Given the description of an element on the screen output the (x, y) to click on. 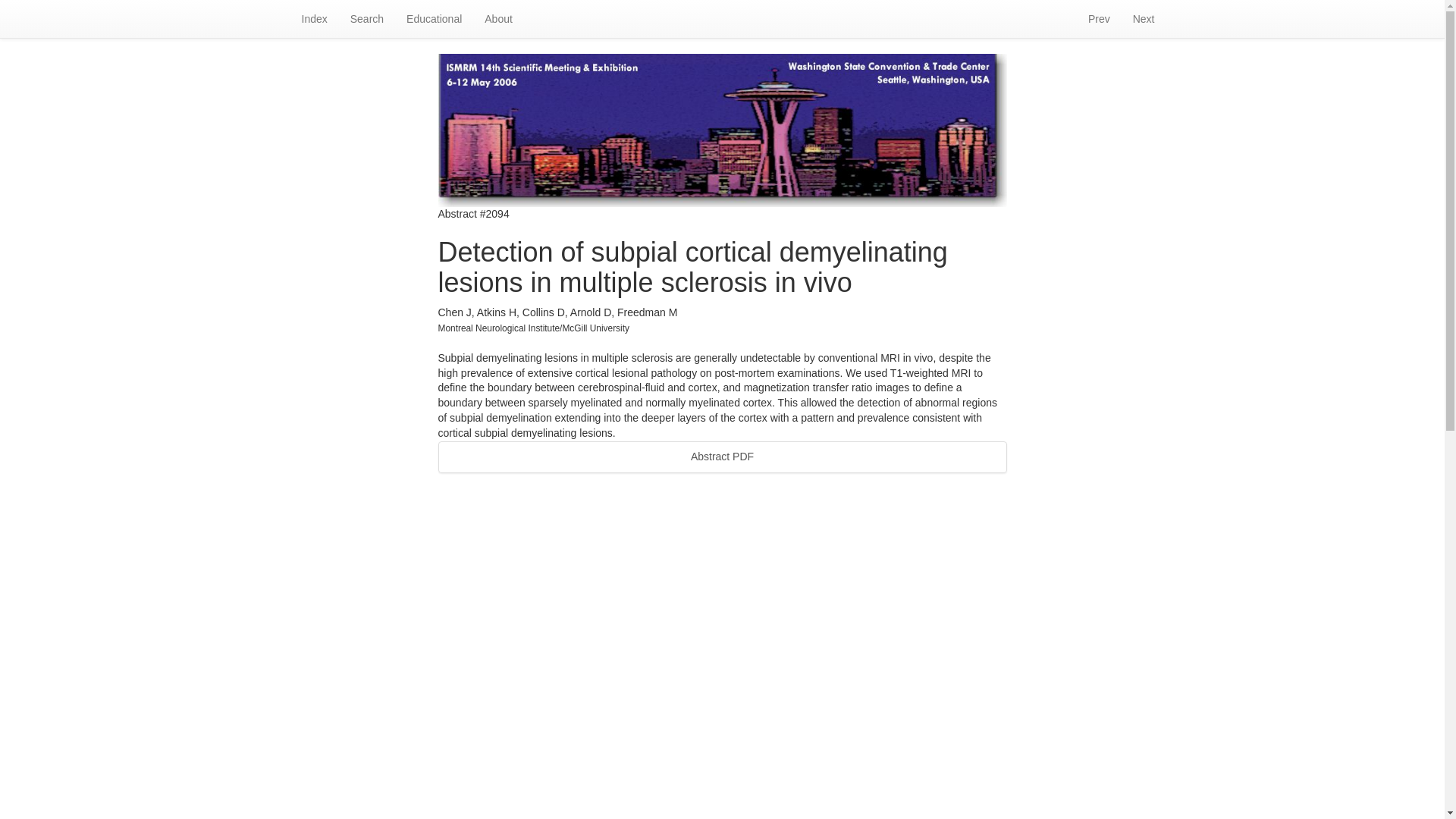
Search (366, 18)
Educational (433, 18)
Abstract PDF (722, 457)
Next (1143, 18)
Index (313, 18)
Prev (1099, 18)
About (498, 18)
